Given the description of an element on the screen output the (x, y) to click on. 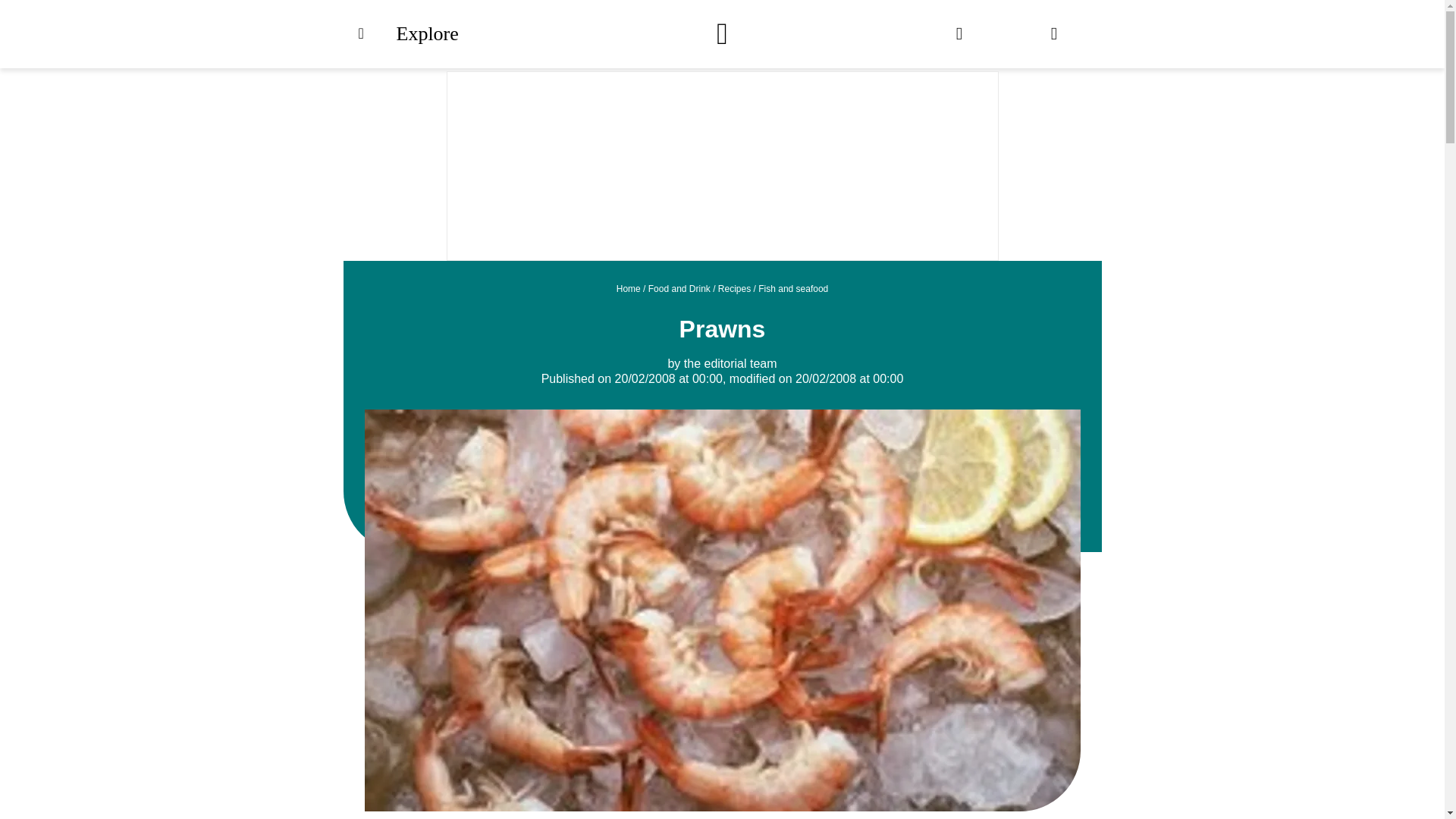
Recipes (734, 288)
Food and Drink (678, 288)
Fish and seafood (793, 288)
Home (627, 288)
